Given the description of an element on the screen output the (x, y) to click on. 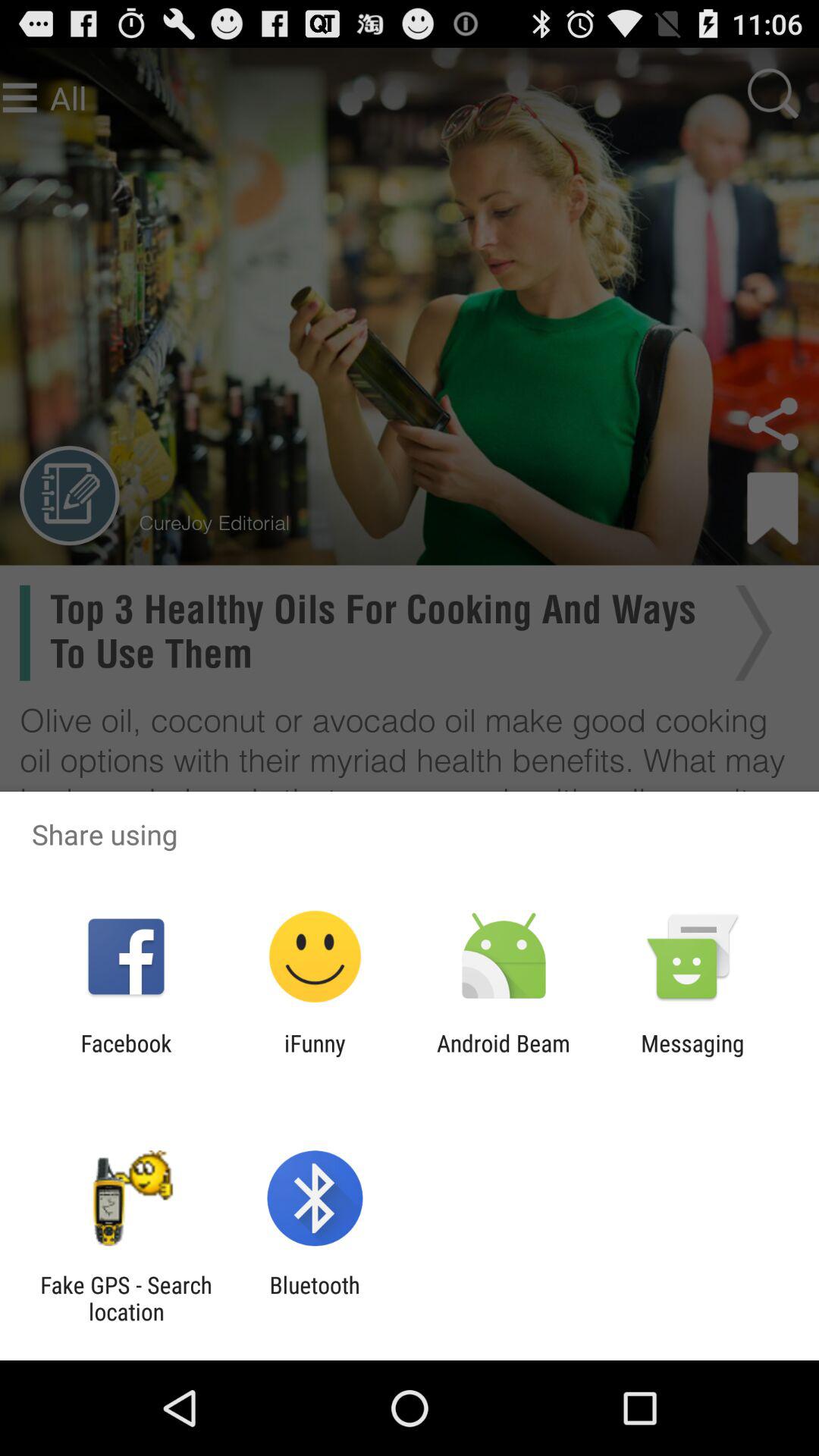
press ifunny (314, 1056)
